Given the description of an element on the screen output the (x, y) to click on. 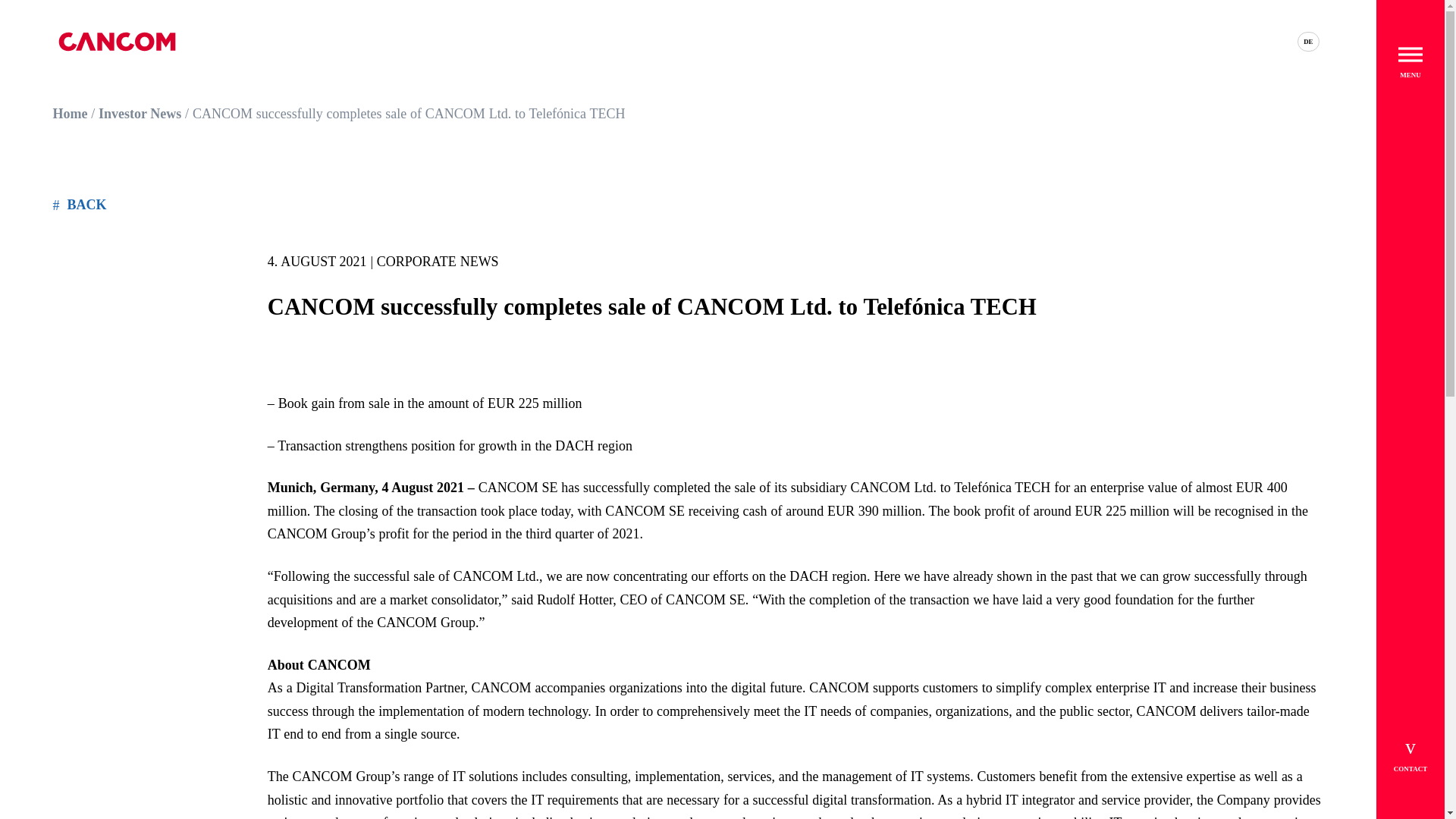
MENU (1410, 75)
Investor News (139, 113)
CONTACT (1409, 755)
DE (1308, 40)
BACK (79, 205)
Home (69, 113)
DE (1308, 40)
